Given the description of an element on the screen output the (x, y) to click on. 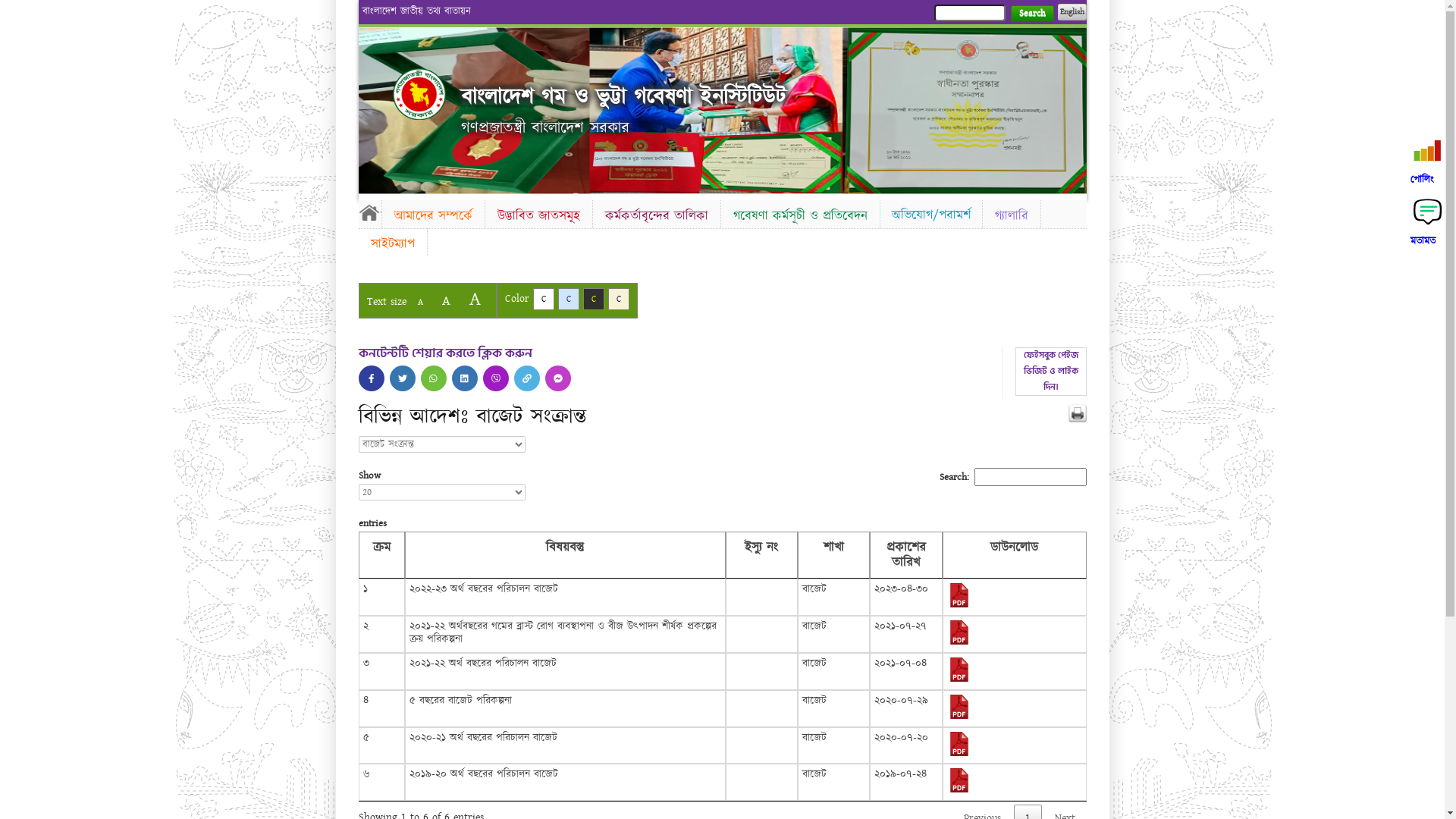
English Element type: text (1071, 11)

    
     Element type: hover (464, 378)
Search Element type: text (1031, 13)
A Element type: text (474, 298)
C Element type: text (542, 299)
C Element type: text (618, 299)

					
				 Element type: hover (418, 93)
C Element type: text (592, 299)
A Element type: text (445, 300)
C Element type: text (568, 299)
A Element type: text (419, 301)
